Given the description of an element on the screen output the (x, y) to click on. 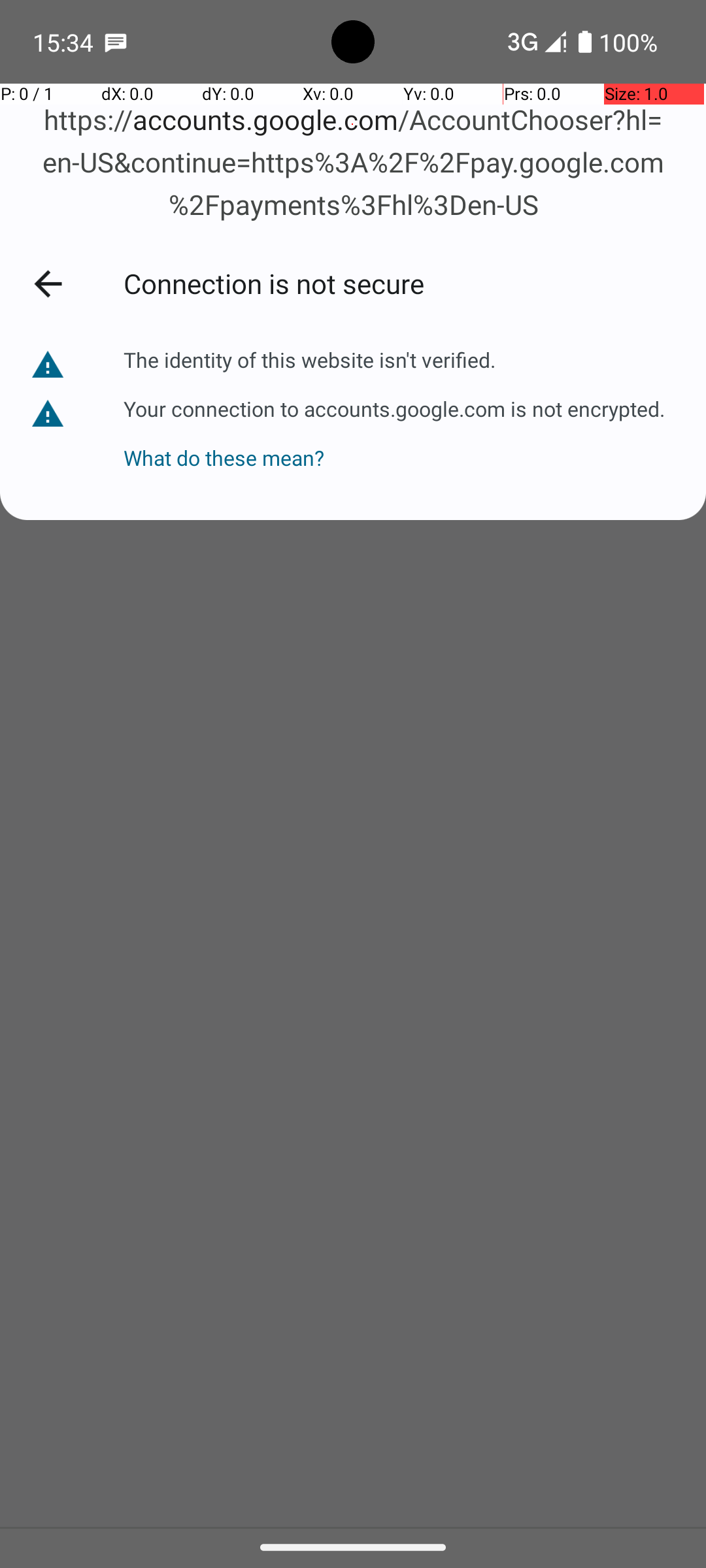
The identity of this website isn't verified. Element type: android.widget.TextView (309, 359)
Your connection to accounts.google.com is not encrypted. Element type: android.widget.TextView (393, 408)
What do these mean? Element type: android.widget.TextView (393, 446)
https://accounts.google.com/AccountChooser?hl=en-US&continue=https%3A%2F%2Fpay.google.com%2Fpayments%3Fhl%3Den-US Element type: android.widget.TextView (352, 162)
